Given the description of an element on the screen output the (x, y) to click on. 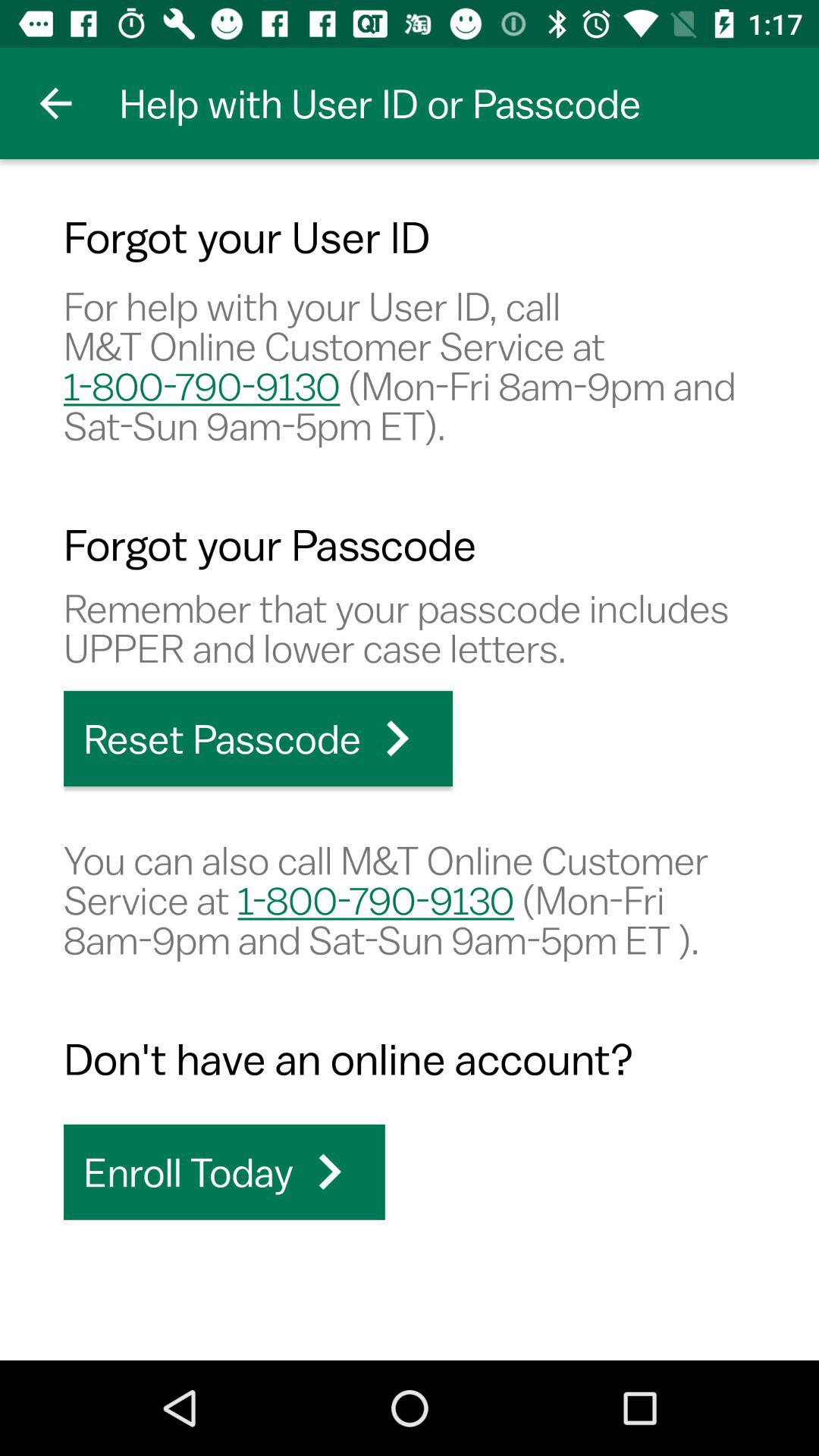
launch item below the reset passcode icon (409, 899)
